Given the description of an element on the screen output the (x, y) to click on. 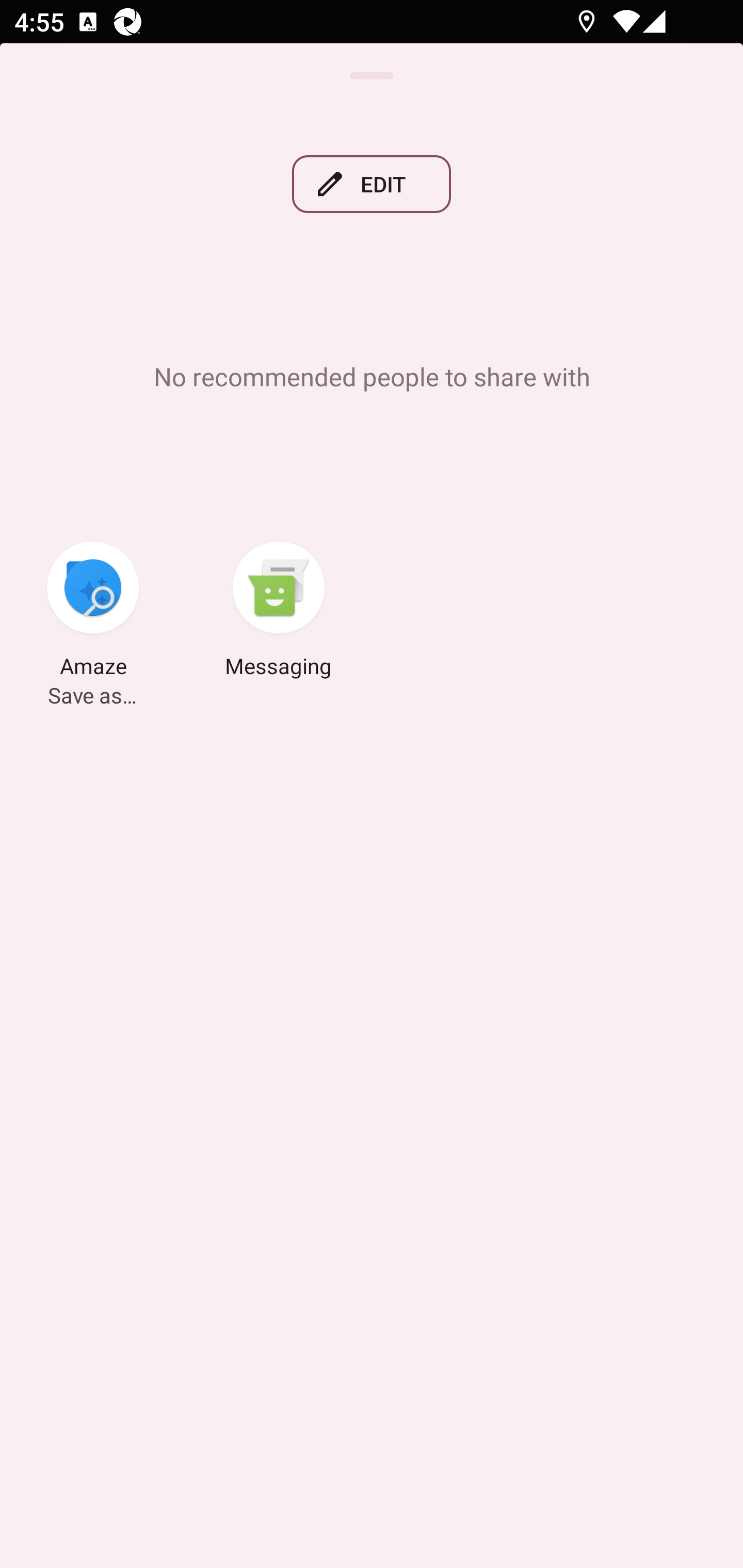
EDIT (371, 184)
Amaze Save as… (92, 611)
Messaging (278, 611)
